Given the description of an element on the screen output the (x, y) to click on. 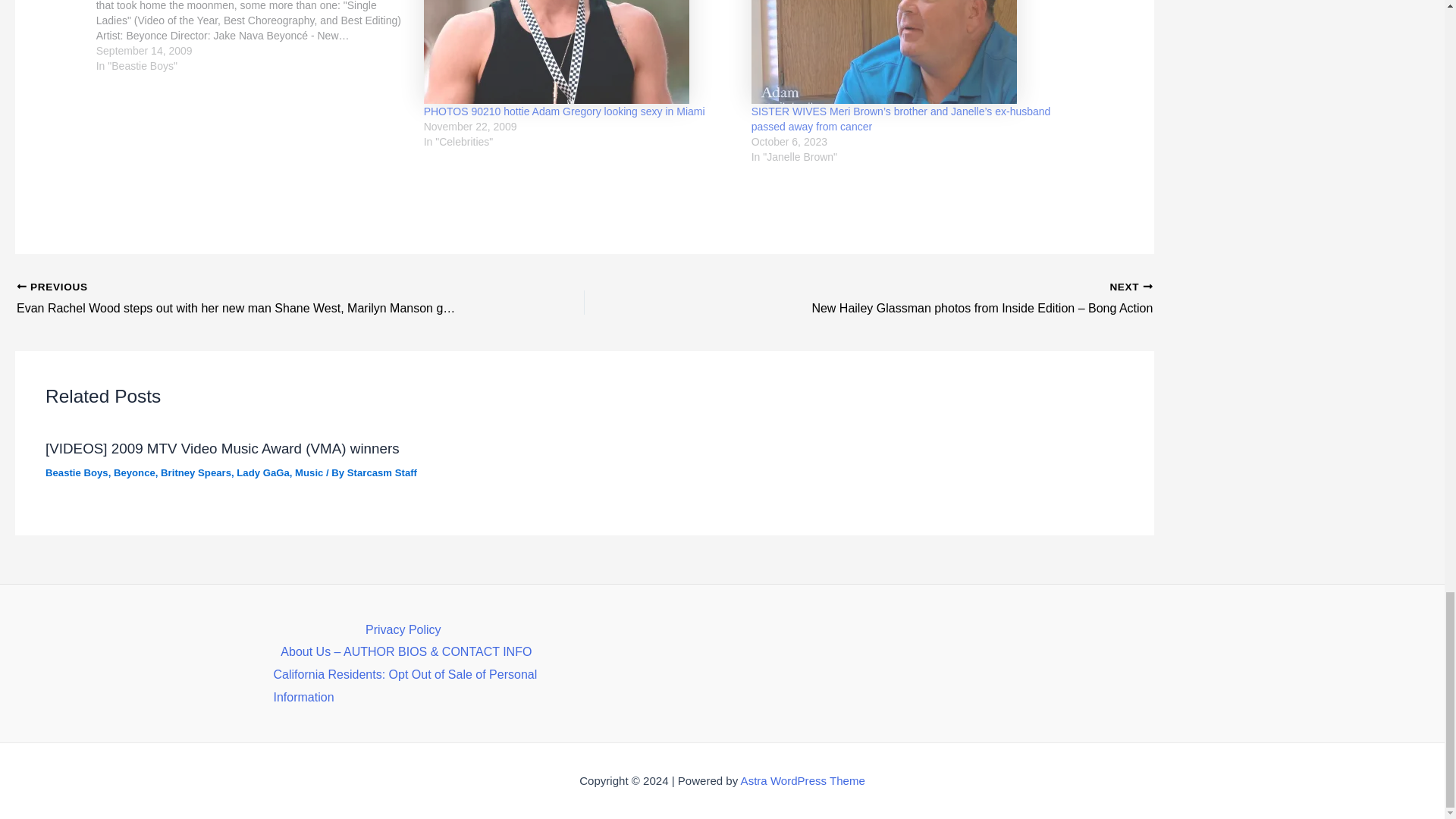
PHOTOS 90210 hottie Adam Gregory looking sexy in Miami (579, 52)
PHOTOS 90210 hottie Adam Gregory looking sexy in Miami (563, 111)
View all posts by Starcasm Staff (381, 472)
New Hailey Glassman photos from Inside Edition - Bong Action (925, 299)
